Given the description of an element on the screen output the (x, y) to click on. 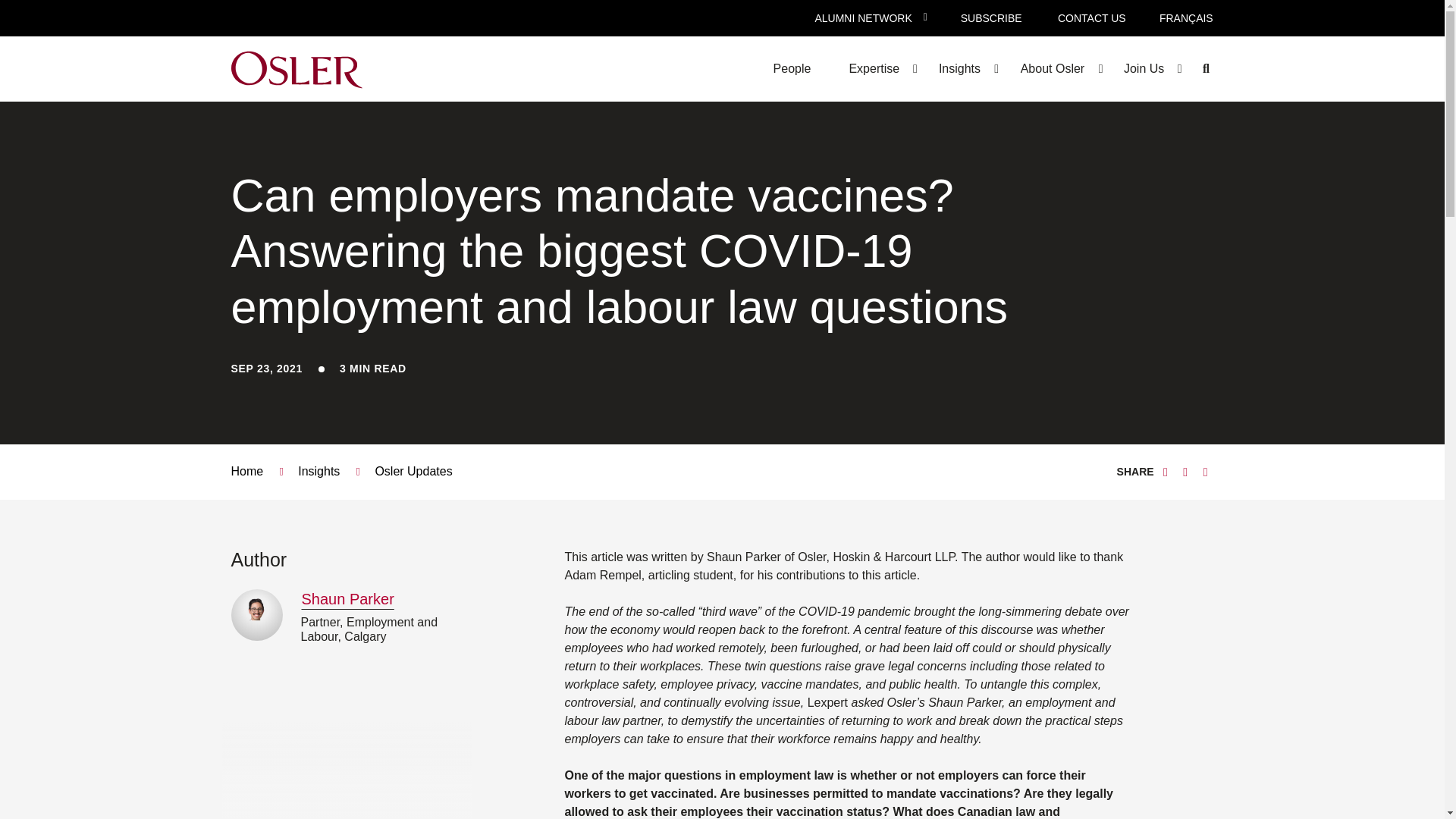
Expertise (874, 68)
About Osler (1051, 68)
ALUMNI NETWORK (862, 18)
CONTACT US (1091, 18)
SUBSCRIBE (991, 18)
ALUMNI NETWORK (862, 18)
CONTACT US (1091, 18)
Twitter - Share (1165, 472)
Linkedin - Share (1184, 472)
SUBSCRIBE (991, 18)
Osler Logo (295, 68)
